Given the description of an element on the screen output the (x, y) to click on. 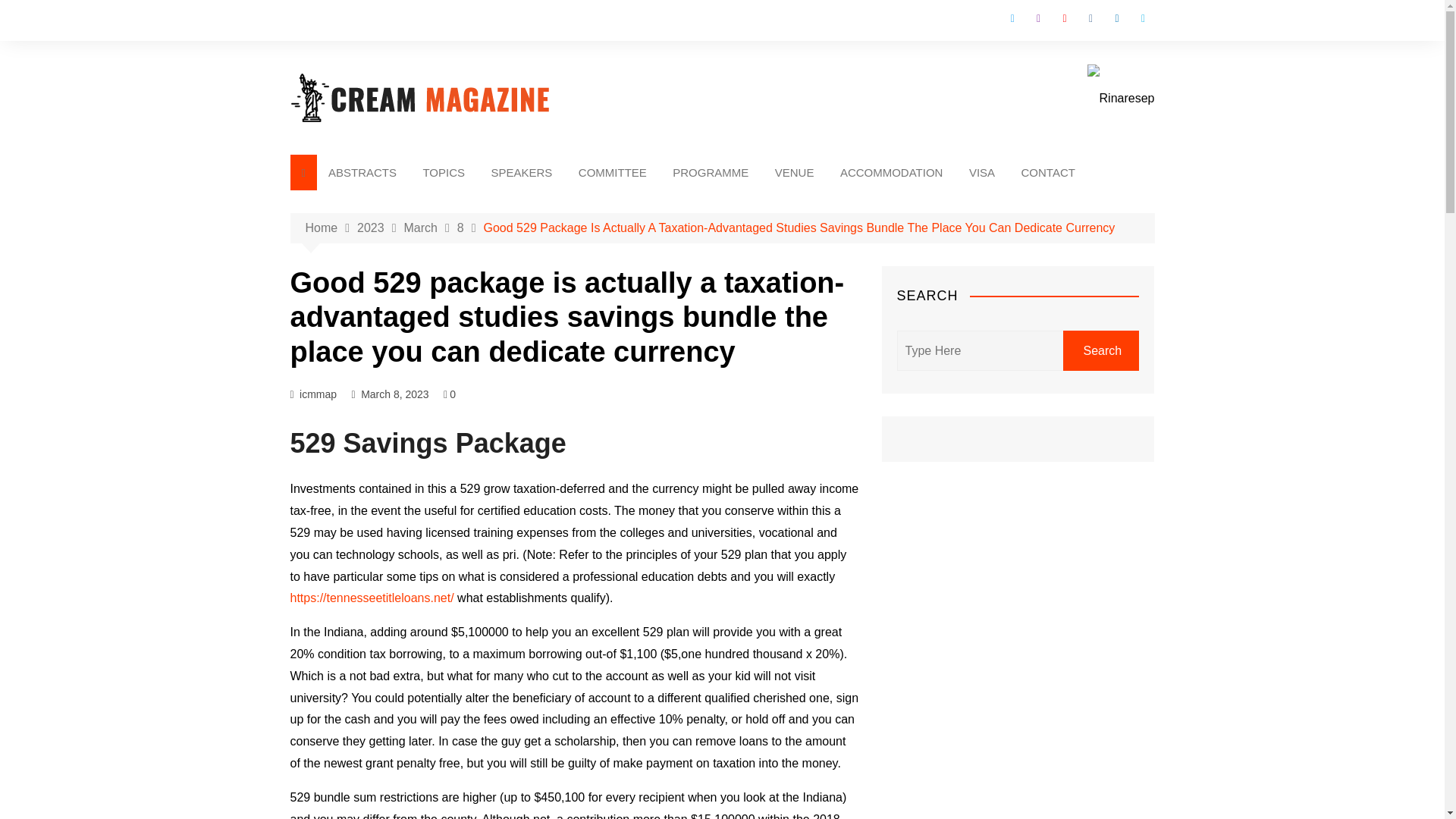
TOPICS (443, 172)
ACCOMMODATION (891, 172)
Vimeo (1142, 18)
VK (1091, 18)
COMMITTEE (612, 172)
Home (330, 228)
2023 (379, 228)
VENUE (793, 172)
Search (1100, 350)
Linkedin (1116, 18)
